Given the description of an element on the screen output the (x, y) to click on. 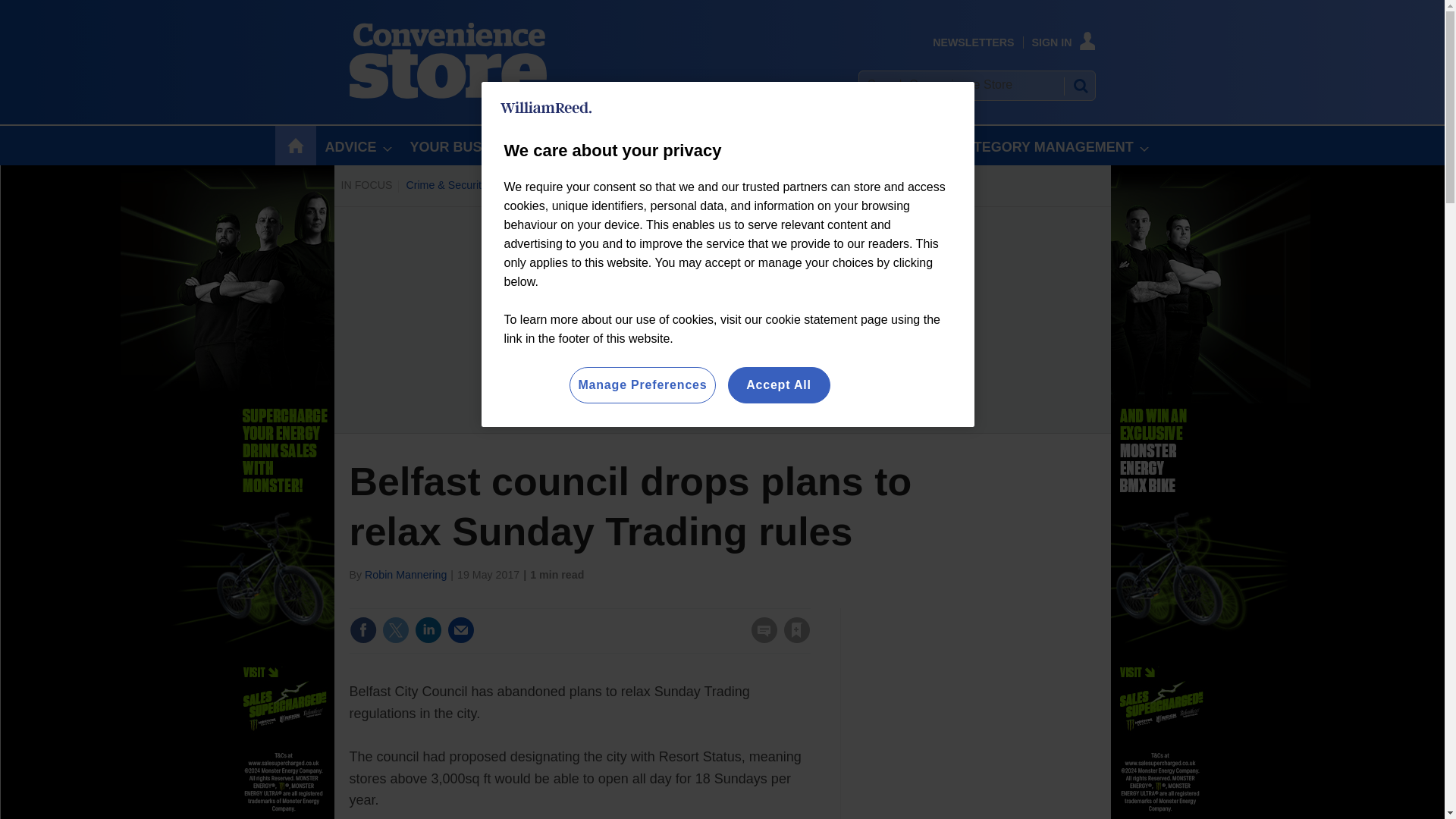
Share this on Facebook (362, 629)
Category Management (760, 184)
Share this on Twitter (395, 629)
Site name (447, 93)
3rd party ad content (980, 702)
SIGN IN (1064, 42)
Share this on Linked in (427, 629)
SEARCH (1079, 85)
Convenience Store Vision (890, 184)
Email this article (460, 629)
